Given the description of an element on the screen output the (x, y) to click on. 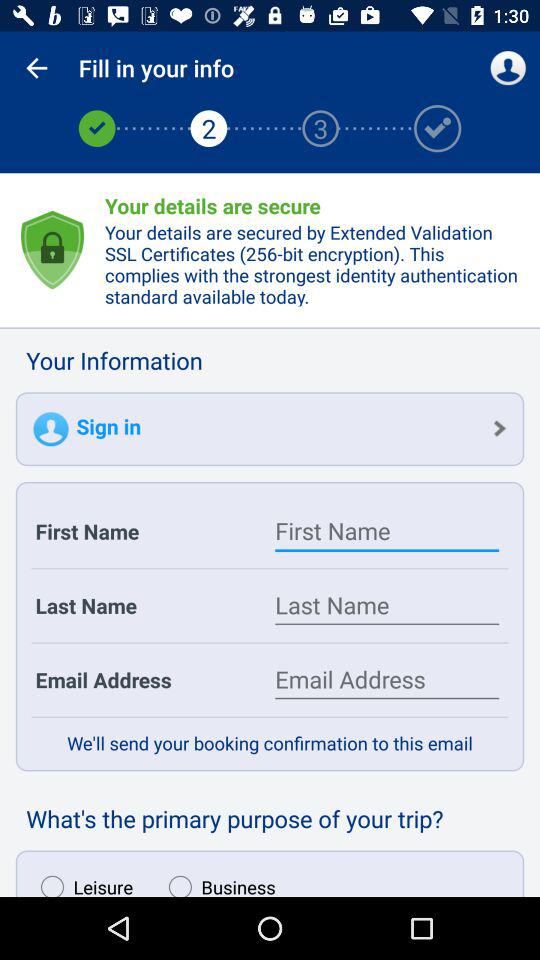
turn off icon next to business (82, 881)
